Given the description of an element on the screen output the (x, y) to click on. 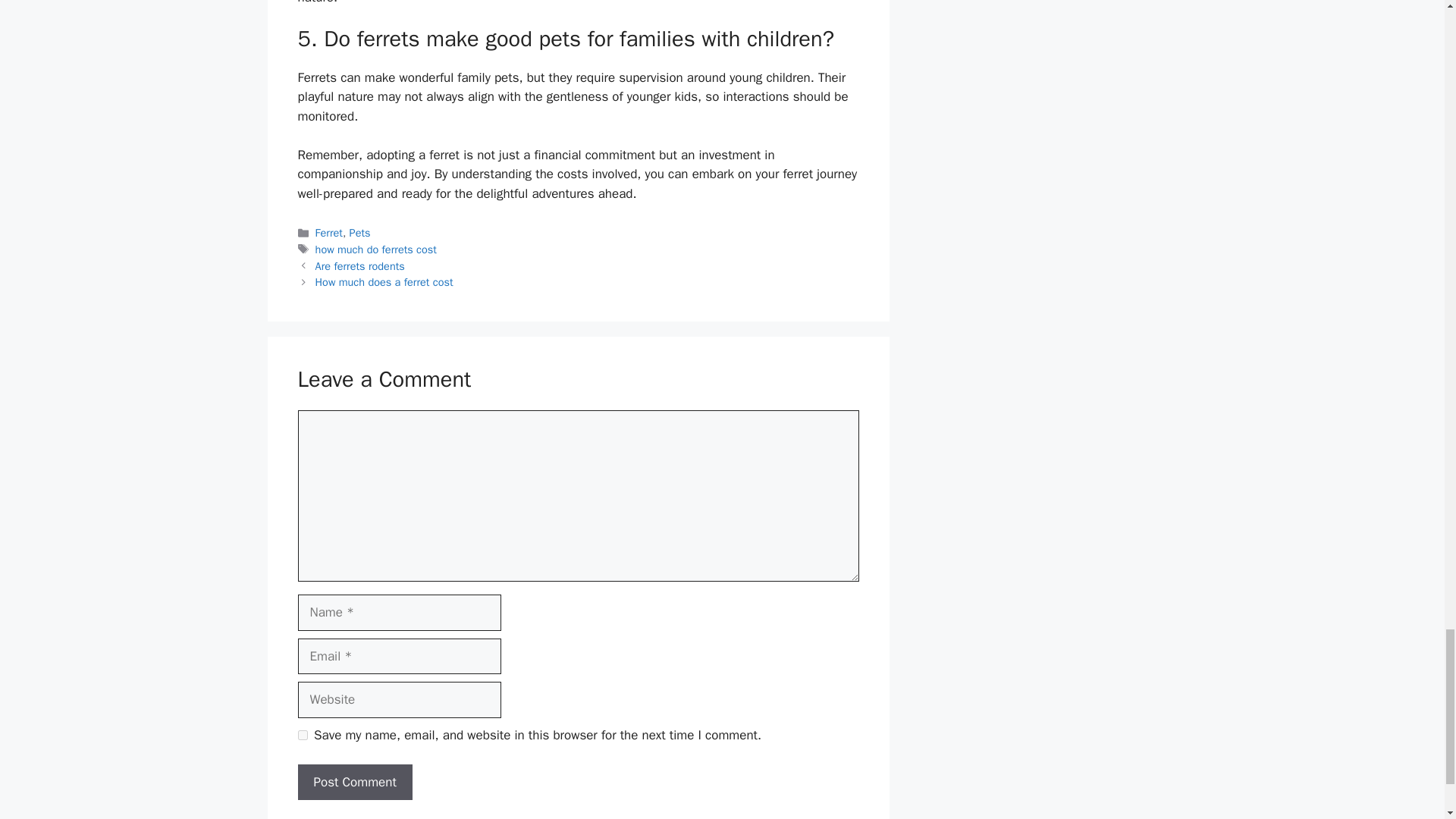
Post Comment (354, 782)
Ferret (328, 232)
Post Comment (354, 782)
How much does a ferret cost (383, 282)
how much do ferrets cost (375, 249)
yes (302, 735)
Pets (360, 232)
Are ferrets rodents (359, 265)
